Given the description of an element on the screen output the (x, y) to click on. 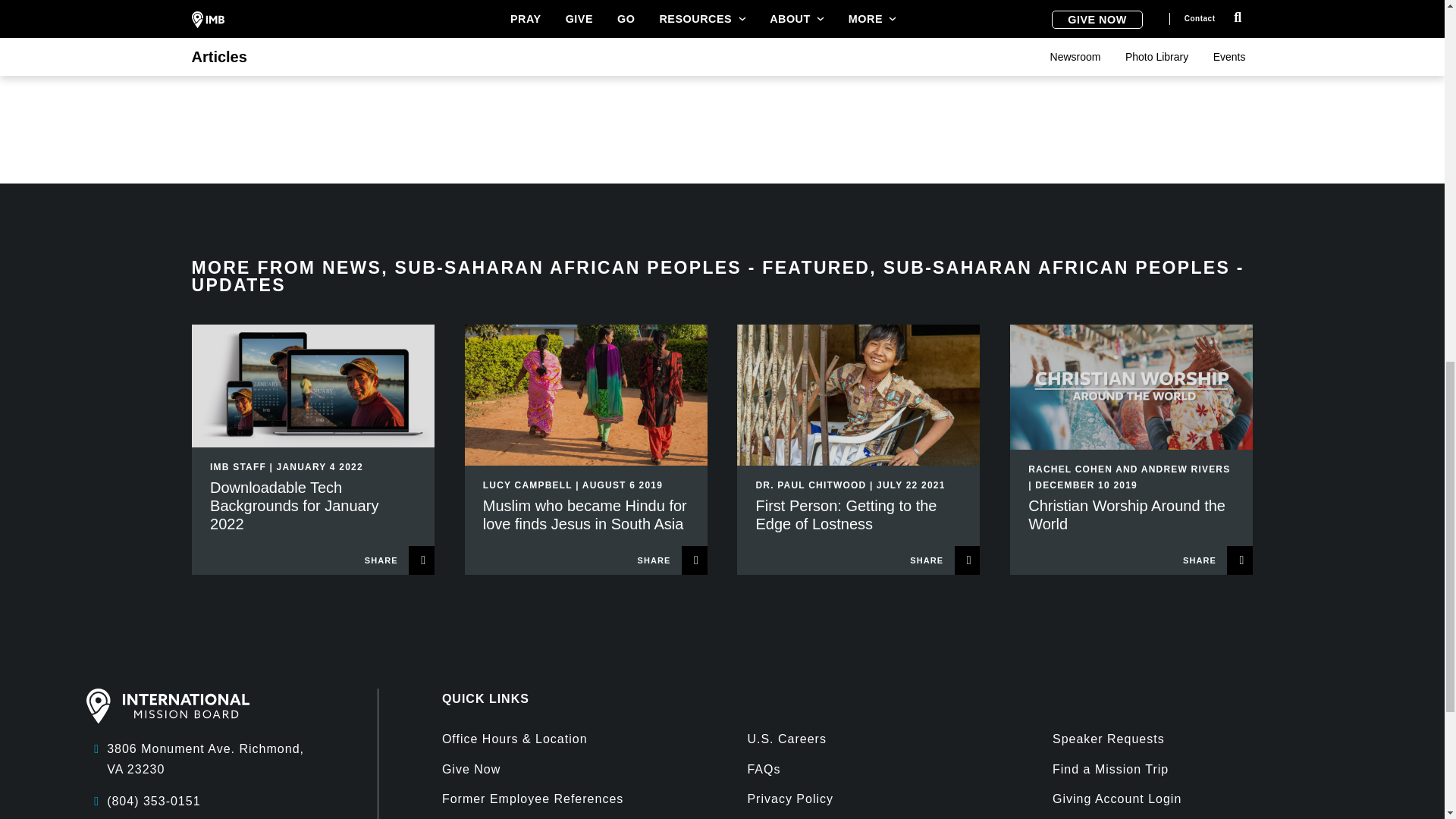
Pandemic Travel (631, 11)
